Given the description of an element on the screen output the (x, y) to click on. 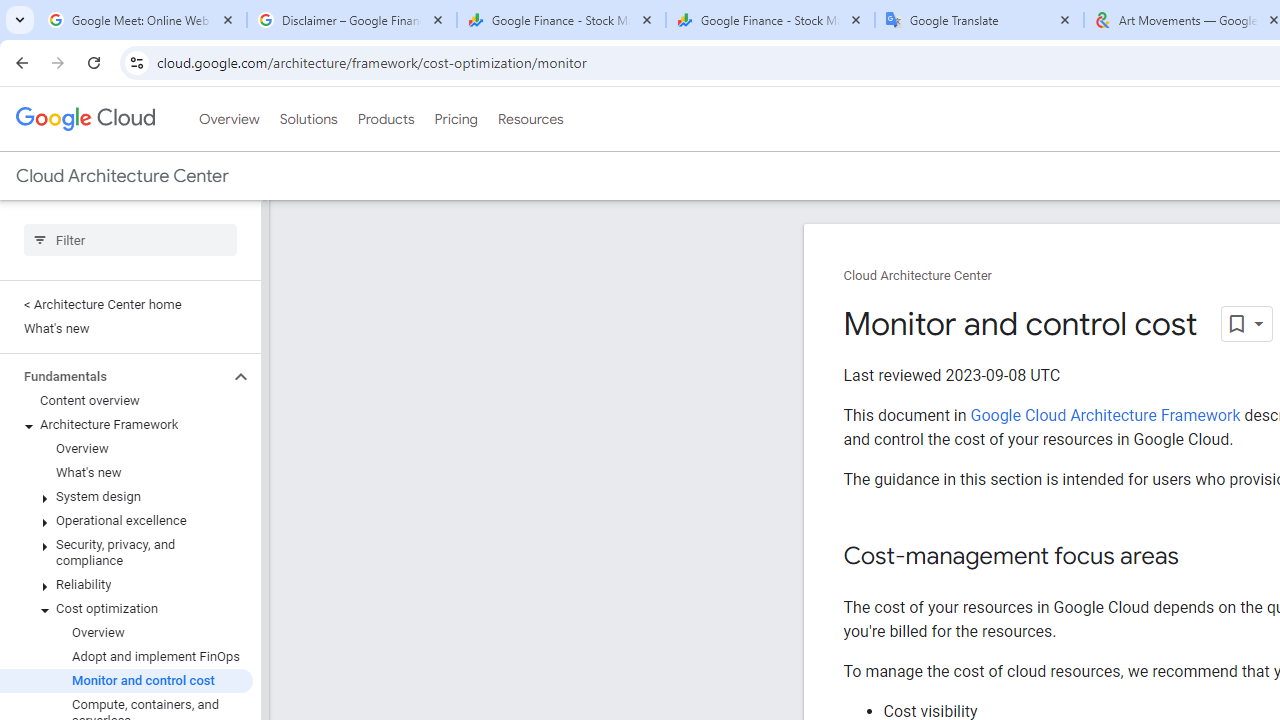
Content overview (126, 400)
Copy link to this section: Cost-management focus areas (1197, 557)
Overview (126, 632)
Type to filter (130, 239)
Adopt and implement FinOps (126, 656)
